Given the description of an element on the screen output the (x, y) to click on. 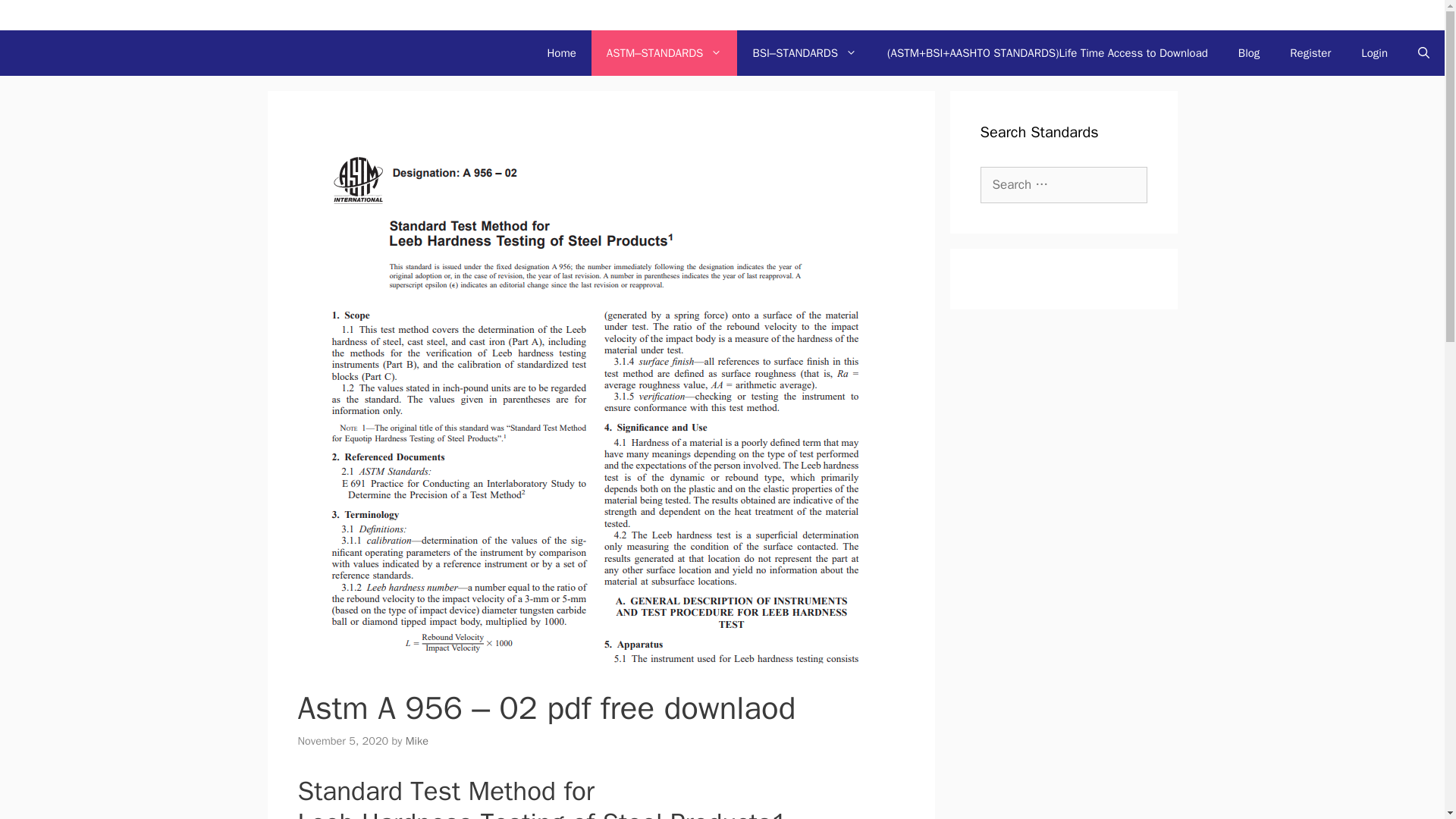
View all posts by Mike (417, 740)
Home (561, 53)
Register (1310, 53)
Mike (417, 740)
Search for: (1063, 185)
Search (33, 17)
Blog (1249, 53)
Login (1374, 53)
